Given the description of an element on the screen output the (x, y) to click on. 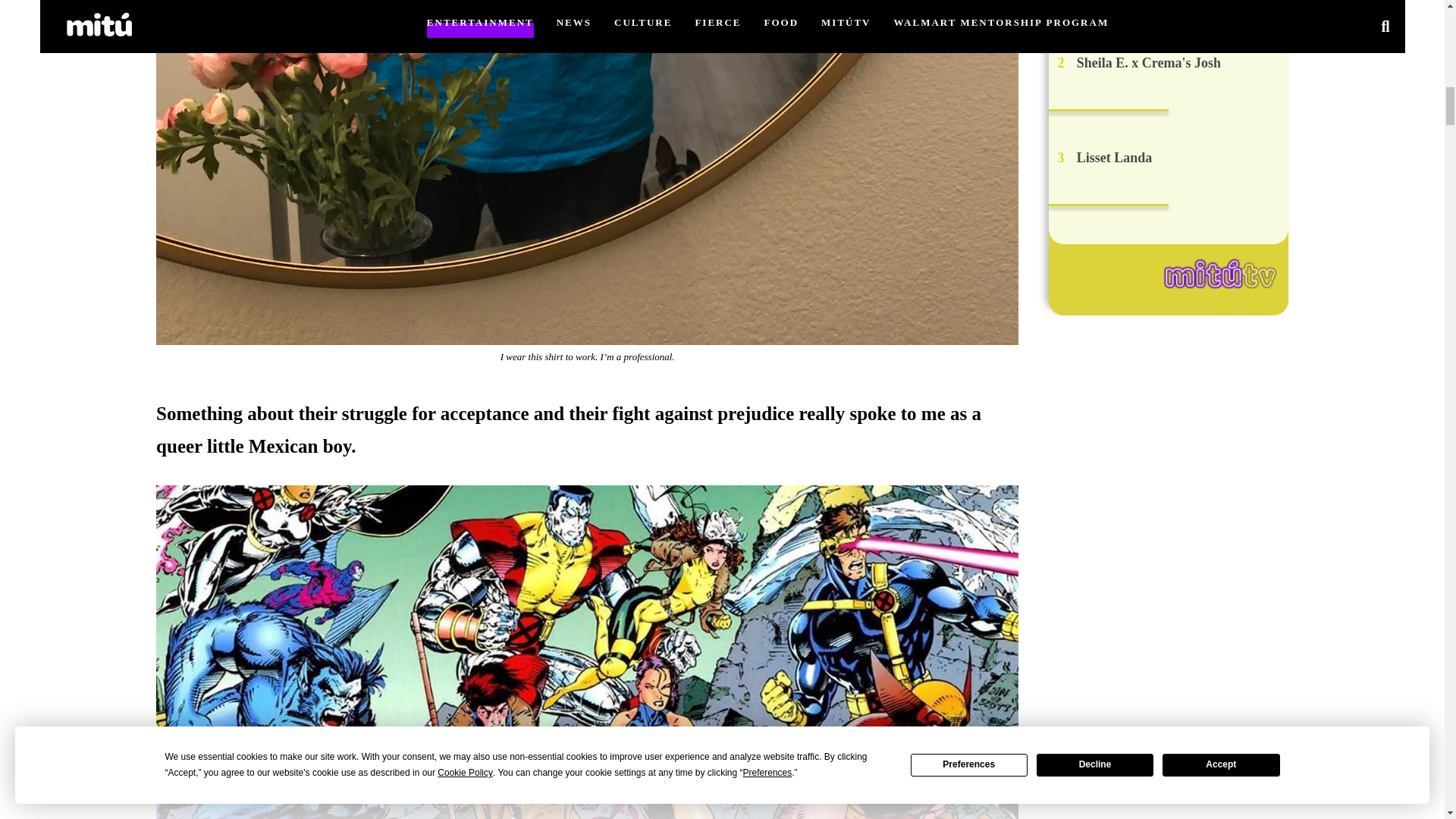
Sheila E. x Crema's Josh (1149, 62)
Lisset Landa (1115, 157)
